Given the description of an element on the screen output the (x, y) to click on. 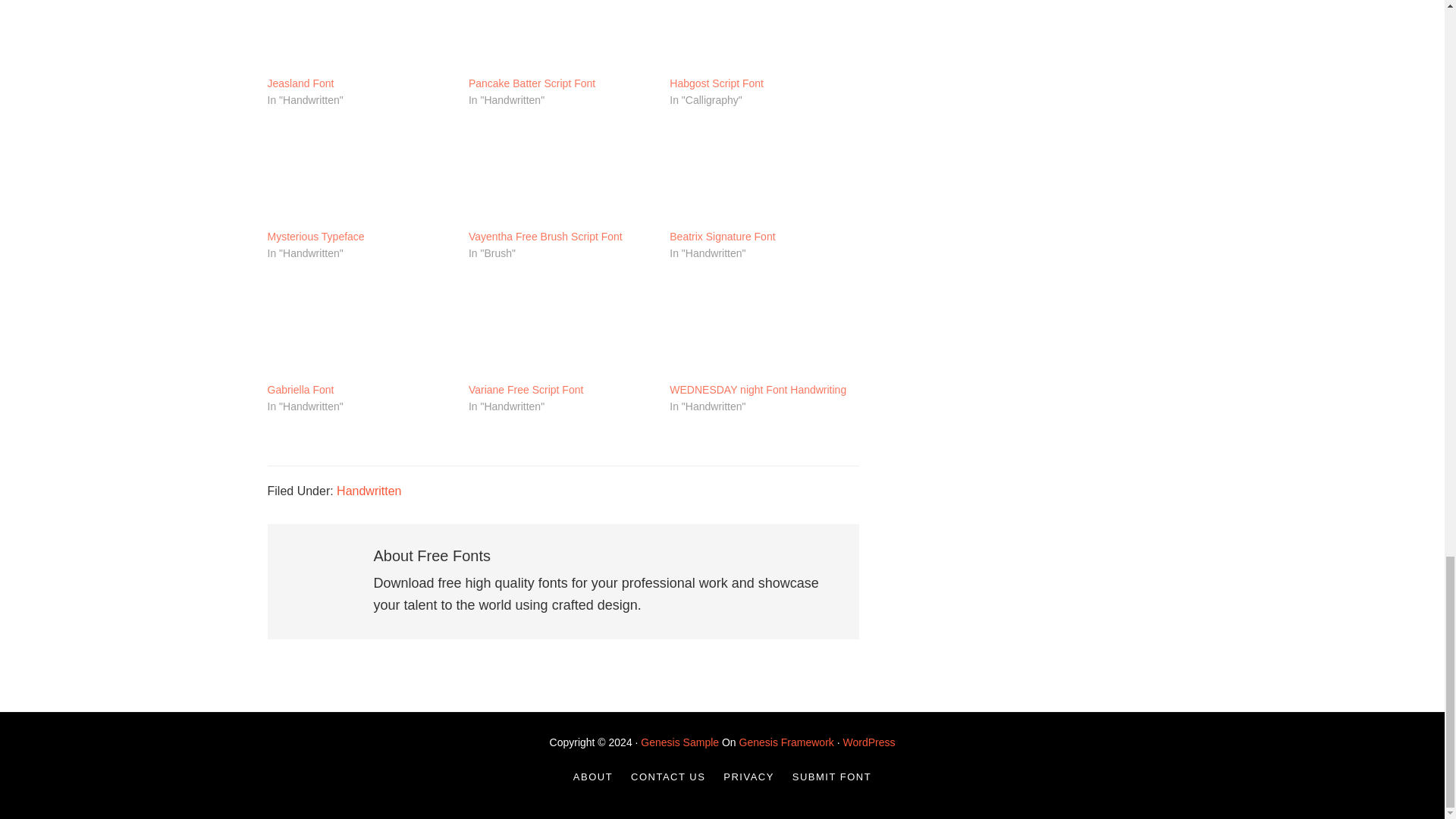
Beatrix Signature Font (721, 237)
Mysterious Typeface (359, 175)
Gabriella Font (359, 328)
Vayentha Free Brush Script Font (545, 237)
Habgost Script Font (715, 83)
Gabriella Font (299, 390)
Handwritten (368, 490)
Habgost Script Font (762, 37)
Pancake Batter Script Font (560, 37)
Pancake Batter Script Font (531, 83)
WEDNESDAY night Font Handwriting (757, 390)
Jeasland Font (359, 37)
Variane Free Script Font (525, 390)
Vayentha Free Brush Script Font (560, 175)
Beatrix Signature Font (762, 175)
